Given the description of an element on the screen output the (x, y) to click on. 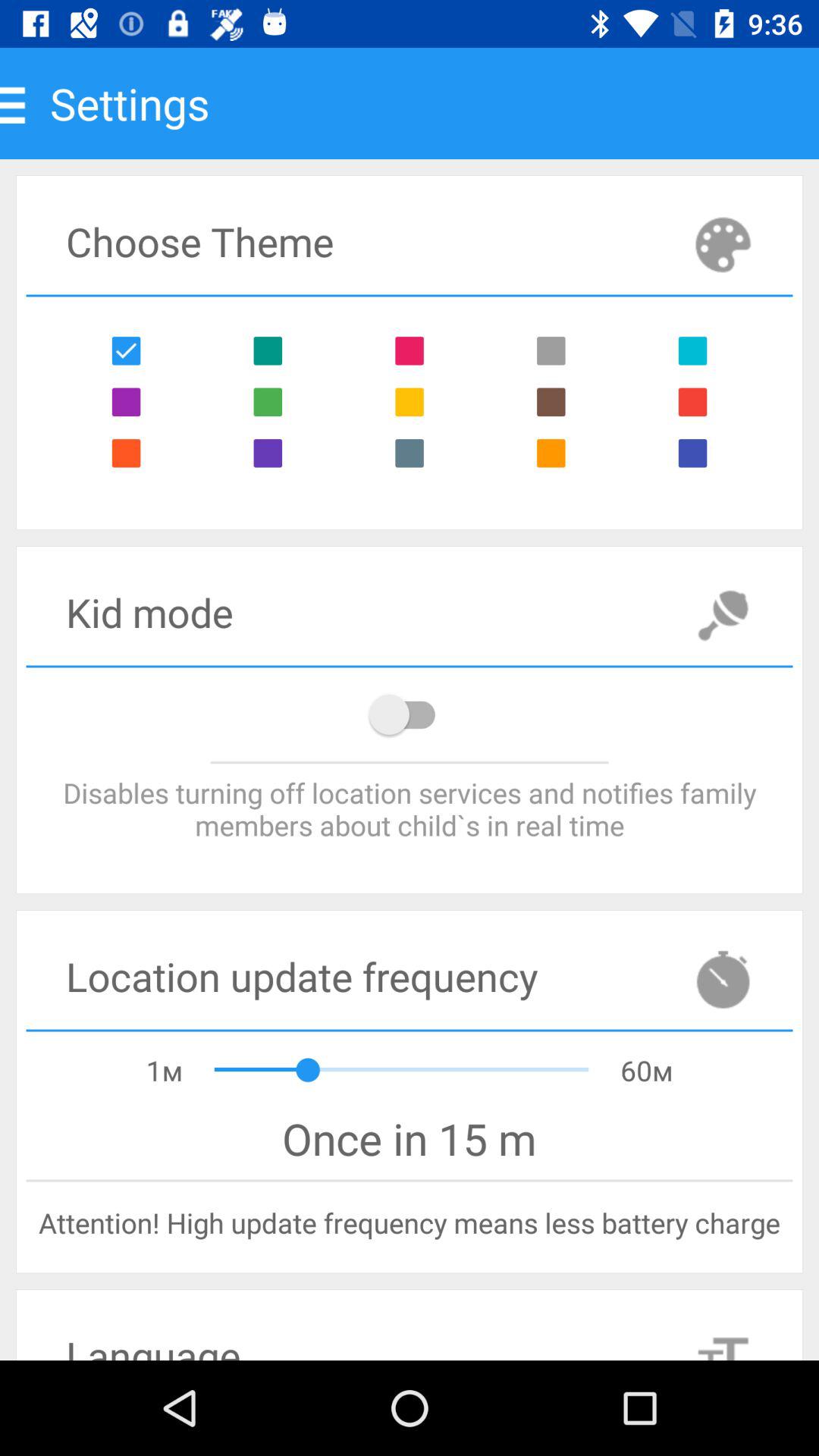
toggle location option (409, 714)
